Given the description of an element on the screen output the (x, y) to click on. 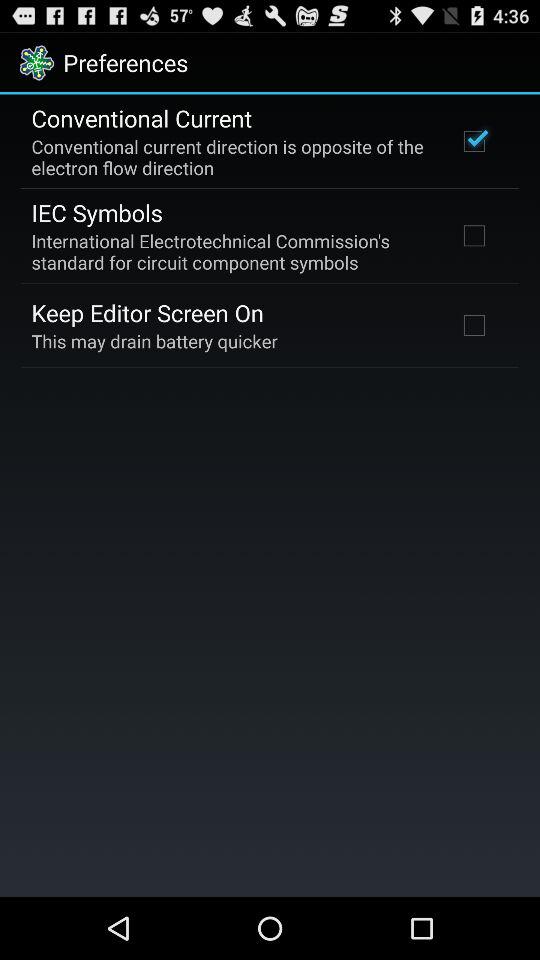
turn off the app below keep editor screen (154, 340)
